Given the description of an element on the screen output the (x, y) to click on. 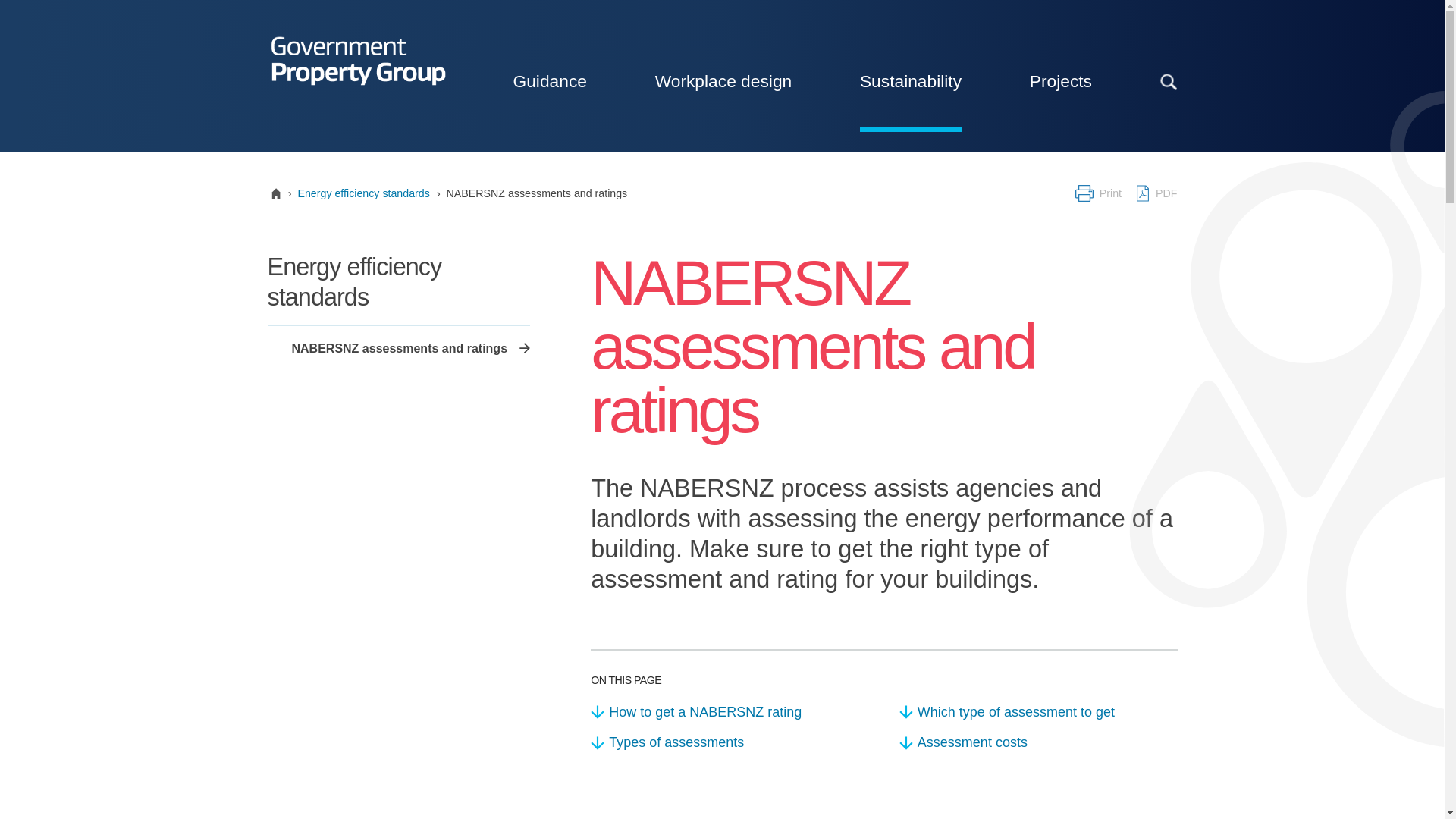
Which type of assessment to get (1038, 711)
PDF (1155, 193)
Energy efficiency standards (363, 193)
Print (1098, 193)
Workplace design (723, 80)
Types of assessments (730, 742)
Projects (1060, 80)
Skip to main content (67, 1)
Search (1098, 80)
Sustainability (910, 80)
